Given the description of an element on the screen output the (x, y) to click on. 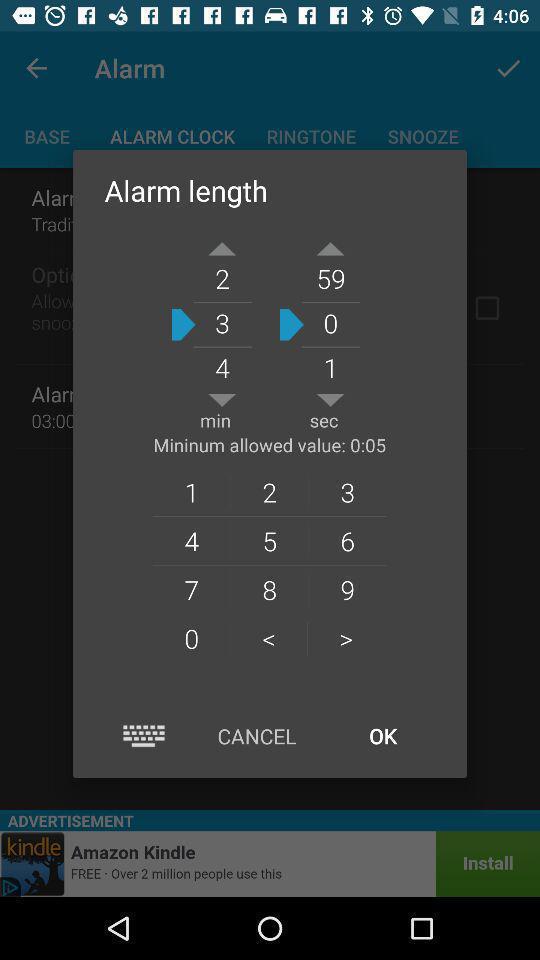
swipe to < icon (268, 638)
